Given the description of an element on the screen output the (x, y) to click on. 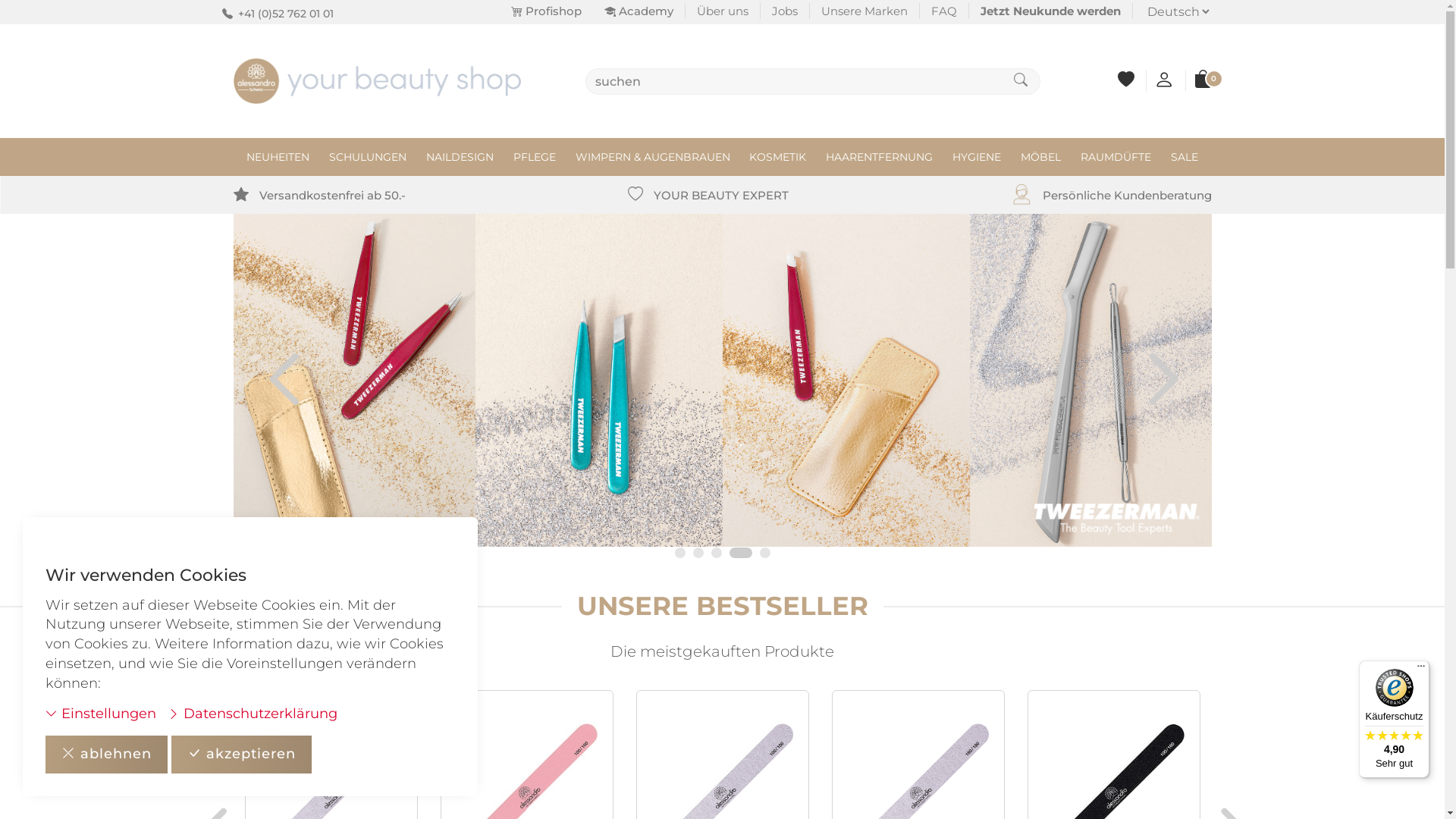
Academy Element type: text (639, 10)
WIMPERN & AUGENBRAUEN Element type: text (652, 156)
KOSMETIK Element type: text (777, 156)
5 Element type: text (764, 552)
4 Element type: text (746, 552)
Merkliste Element type: hover (1125, 81)
Jobs Element type: text (784, 10)
Unsere Marken Element type: text (864, 10)
SALE Element type: text (1184, 156)
Next Element type: text (1191, 391)
HAARENTFERNUNG Element type: text (878, 156)
ablehnen Element type: text (106, 754)
Jetzt Neukunde werden Element type: text (1050, 10)
SCHULUNGEN Element type: text (367, 156)
NEUHEITEN Element type: text (277, 156)
2 Element type: text (698, 552)
HYGIENE Element type: text (976, 156)
3 Element type: text (722, 552)
Einstellungen Element type: text (100, 714)
Prev Element type: text (253, 391)
NAILDESIGN Element type: text (459, 156)
Profishop Element type: text (545, 10)
FAQ Element type: text (943, 10)
PFLEGE Element type: text (534, 156)
0 Element type: text (1202, 81)
Mein Konto Element type: hover (1163, 83)
+41 (0)52 762 01 01 Element type: text (285, 13)
akzeptieren Element type: text (241, 754)
1 Element type: text (679, 552)
